Given the description of an element on the screen output the (x, y) to click on. 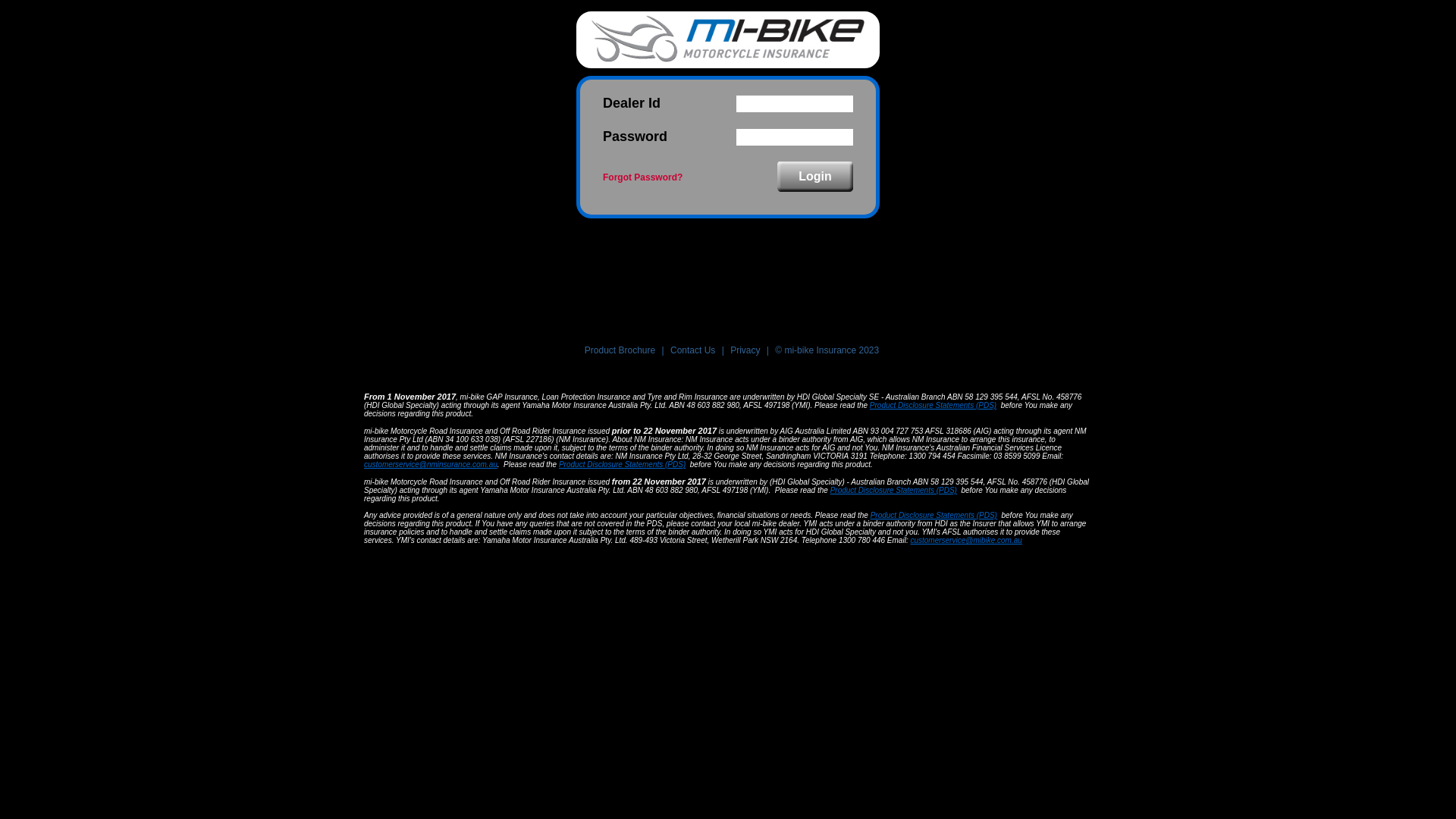
Product Disclosure Statements (PDS) Element type: text (933, 515)
customerservice@nminsurance.com.au Element type: text (430, 464)
Product Disclosure Statements (PDS) Element type: text (932, 405)
Contact Us Element type: text (692, 350)
customerservice@mibike.com.au Element type: text (965, 540)
Product Disclosure Statements (PDS) Element type: text (893, 490)
Forgot Password? Element type: text (642, 177)
Login Element type: text (815, 175)
Privacy Element type: text (744, 350)
Product Disclosure Statements (PDS) Element type: text (621, 464)
AMI Australia Element type: hover (727, 38)
Product Brochure Element type: text (619, 350)
